Given the description of an element on the screen output the (x, y) to click on. 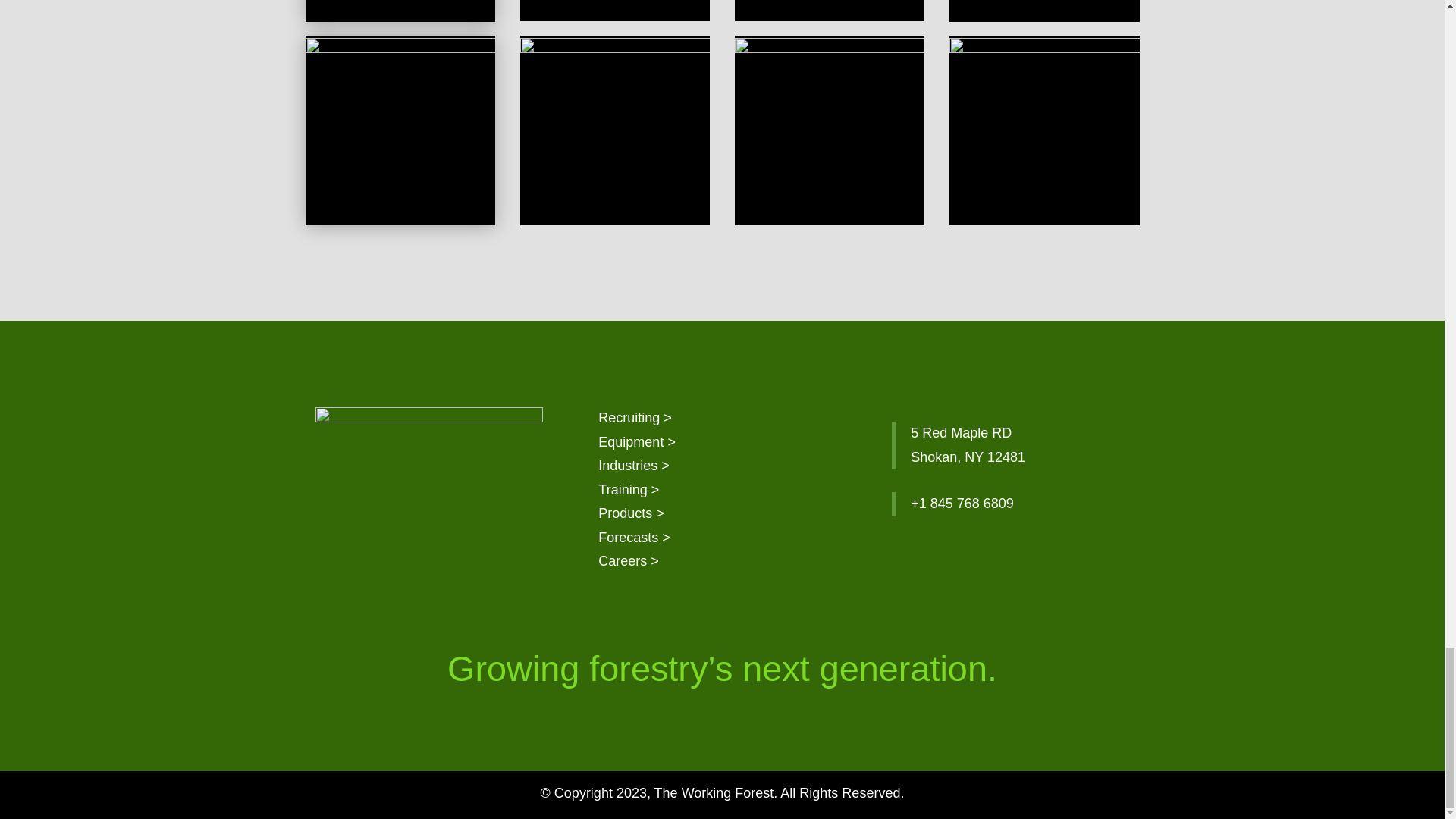
Training Information (628, 489)
Products (630, 513)
Recruiting Information (634, 417)
Forcasts (633, 537)
Career Information (628, 560)
Equipment Information (636, 441)
Industries (633, 465)
